Given the description of an element on the screen output the (x, y) to click on. 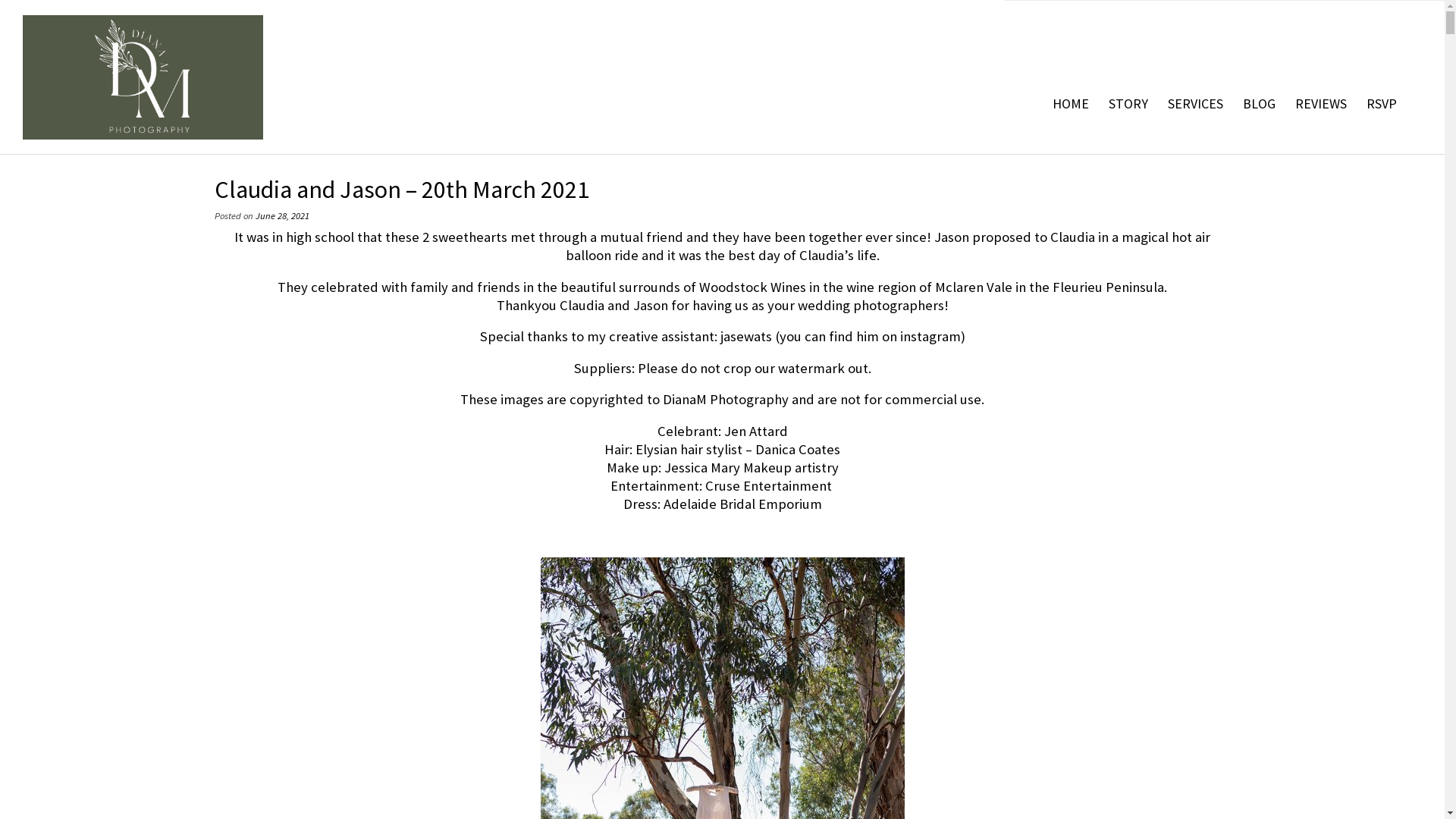
DianaM Photography Element type: hover (142, 77)
BLOG Element type: text (1259, 103)
RSVP Element type: text (1381, 103)
STORY Element type: text (1127, 103)
HOME Element type: text (1070, 103)
SERVICES Element type: text (1195, 103)
June 28, 2021 Element type: text (281, 215)
REVIEWS Element type: text (1320, 103)
